Given the description of an element on the screen output the (x, y) to click on. 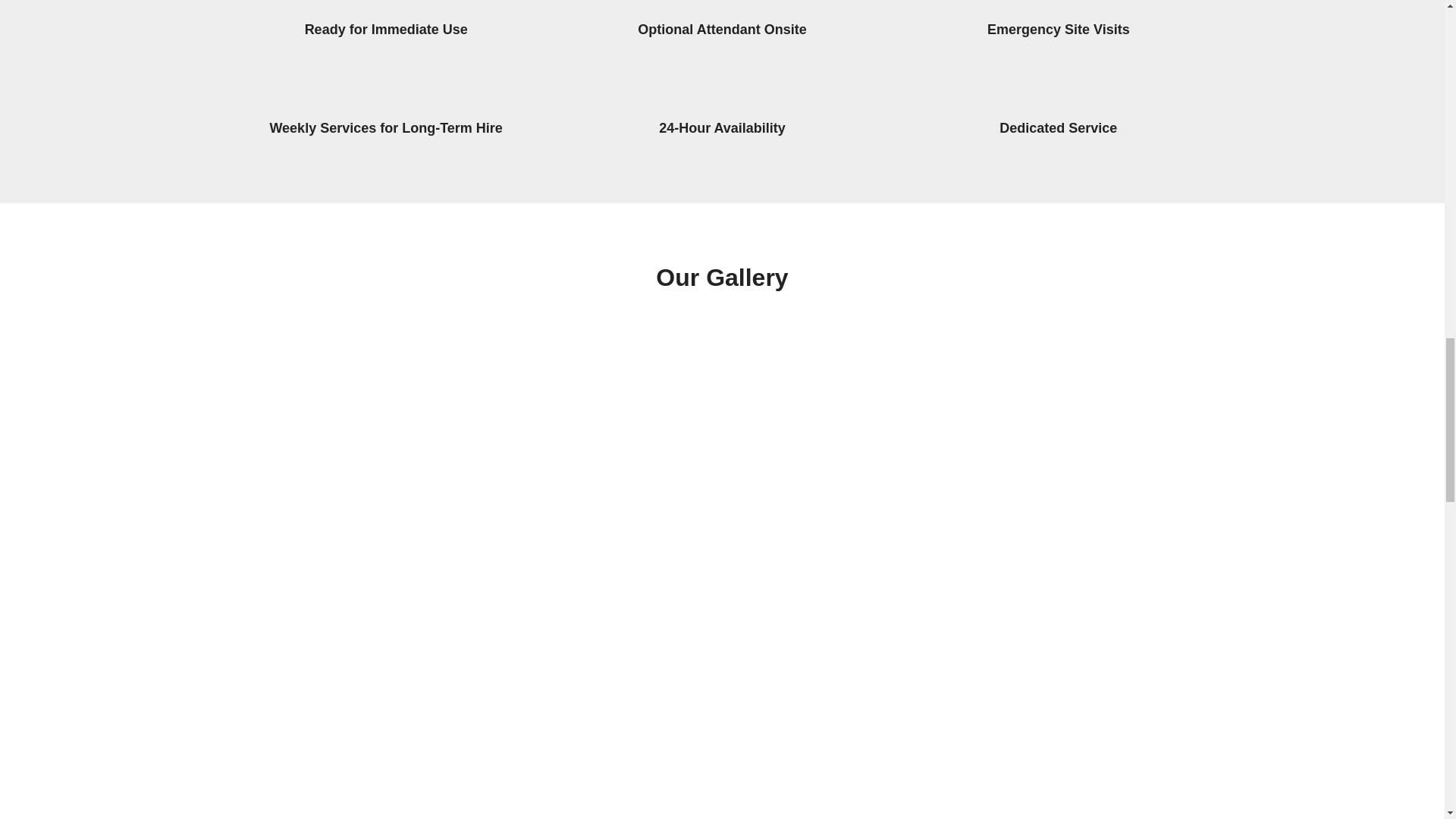
blue-box-hire-gallery-image-11 (1107, 408)
blue-box-hire-gallery-image-16 (855, 759)
blue-box-hire-gallery-image-7 (351, 408)
blue-box-hire-gallery-image-13 (855, 597)
blue-box-hire-gallery-image-1 (351, 597)
blue-box-hire-gallery-image-14 (351, 759)
blue-box-hire-gallery-image-8 (603, 408)
blue-box-hire-gallery-image-15 (603, 759)
blue-box-hire-gallery-image-20 (1107, 597)
blue-box-hire-gallery-image-3 (603, 597)
